Given the description of an element on the screen output the (x, y) to click on. 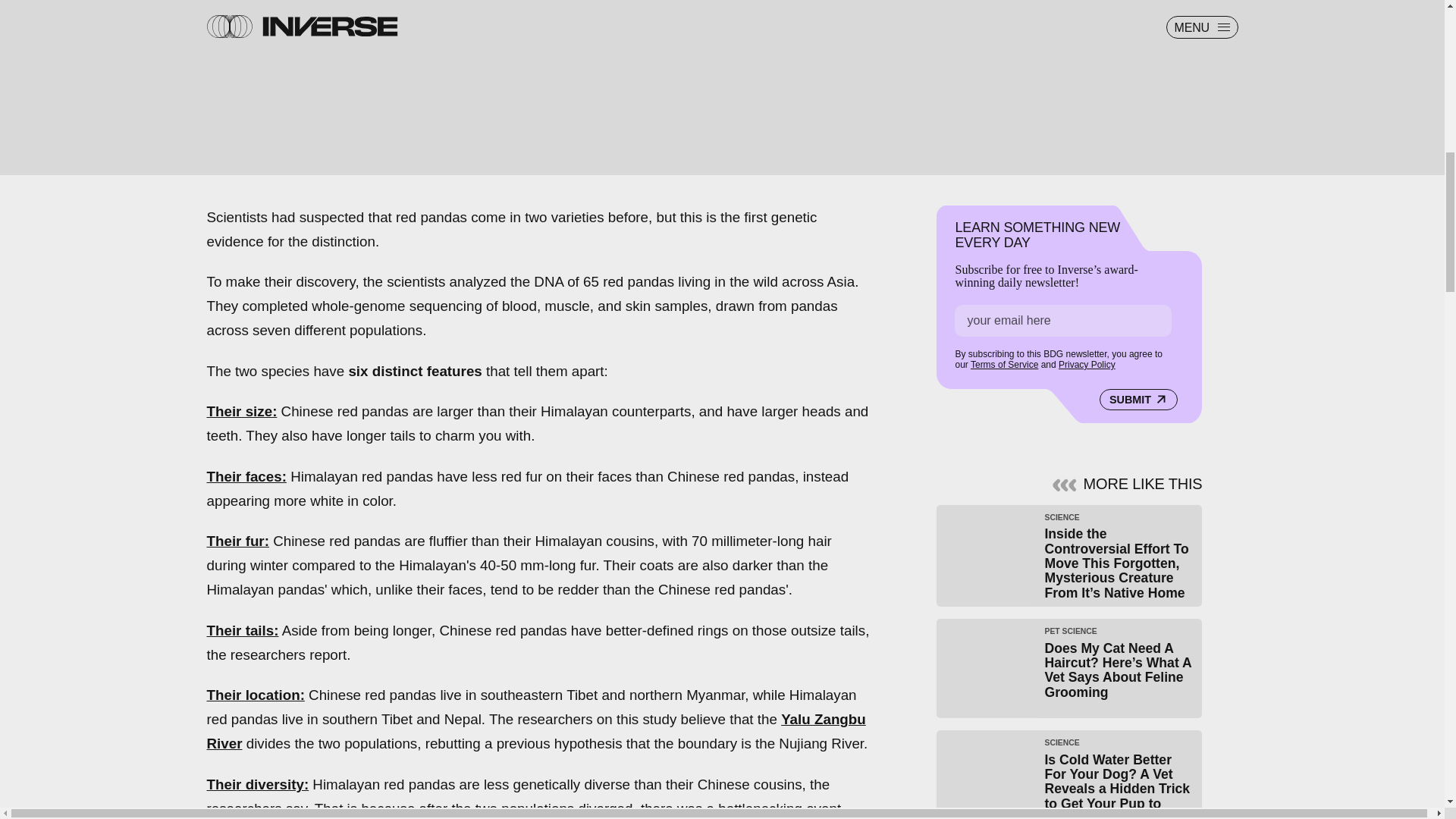
Privacy Policy (1086, 364)
Terms of Service (1004, 364)
Yalu Zangbu River (535, 731)
SUBMIT (1138, 399)
